Given the description of an element on the screen output the (x, y) to click on. 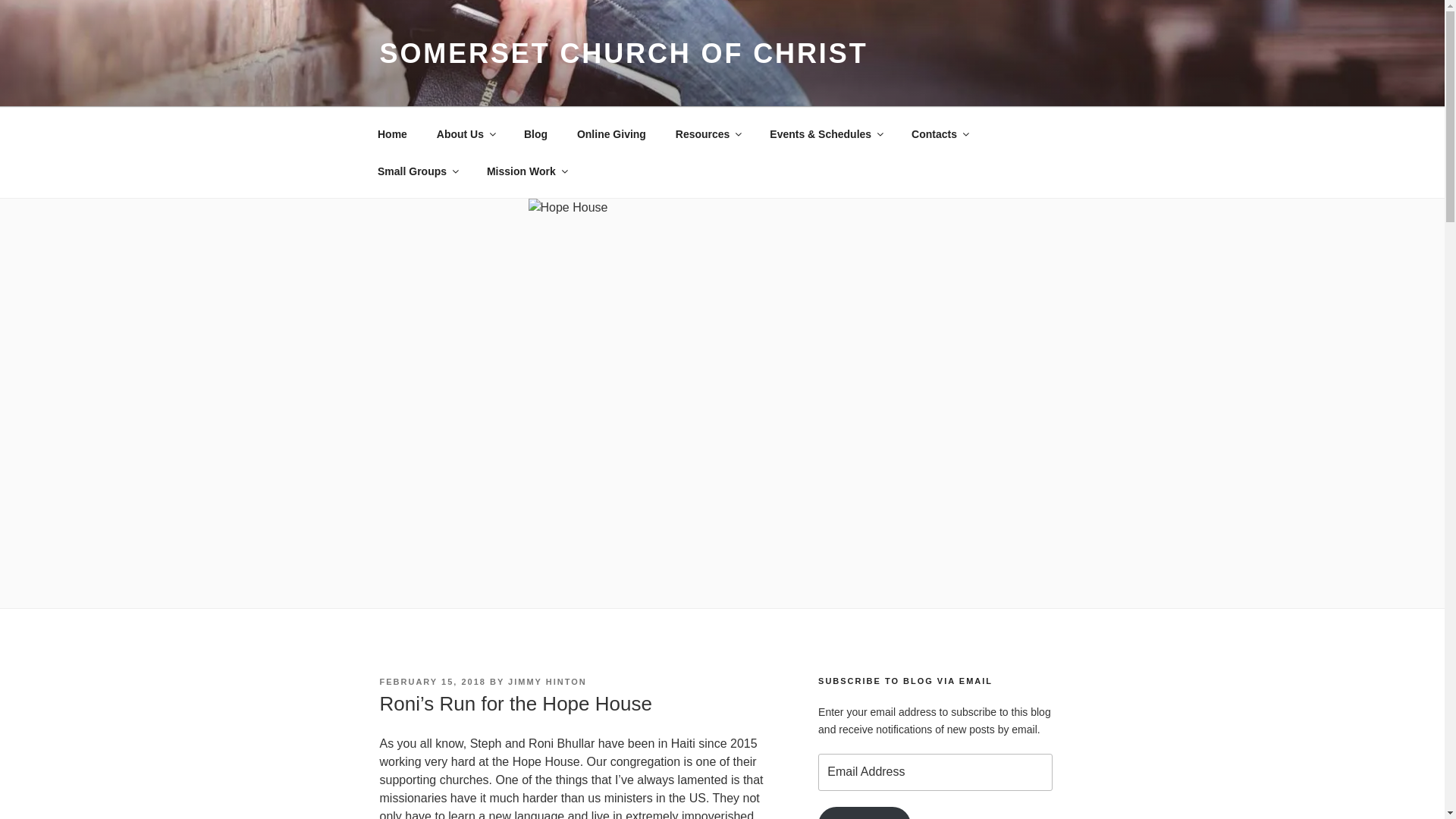
Contacts (939, 133)
About Us (464, 133)
SOMERSET CHURCH OF CHRIST (622, 52)
Small Groups (417, 171)
Mission Work (526, 171)
Resources (708, 133)
Blog (535, 133)
FEBRUARY 15, 2018 (431, 681)
Online Giving (611, 133)
Home (392, 133)
